Given the description of an element on the screen output the (x, y) to click on. 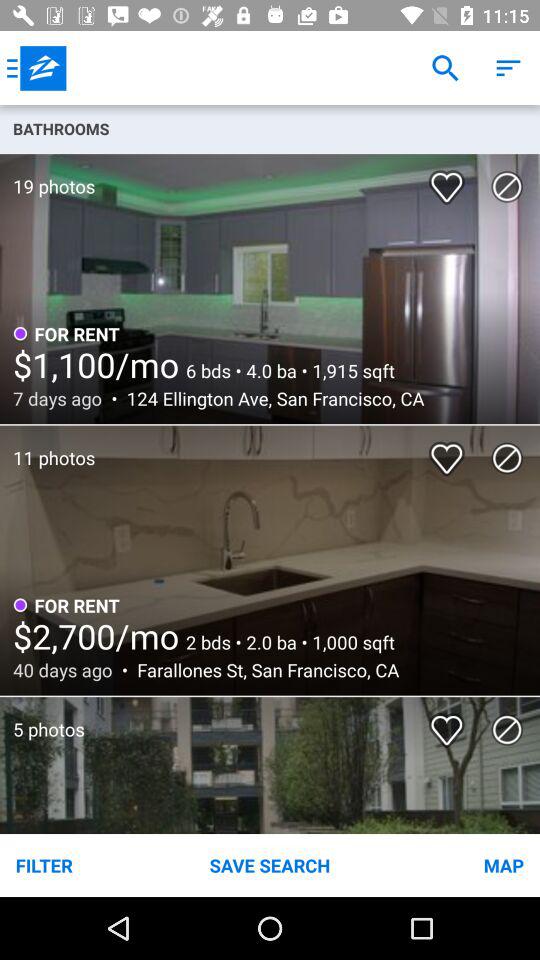
turn off the 5 photos (42, 719)
